Given the description of an element on the screen output the (x, y) to click on. 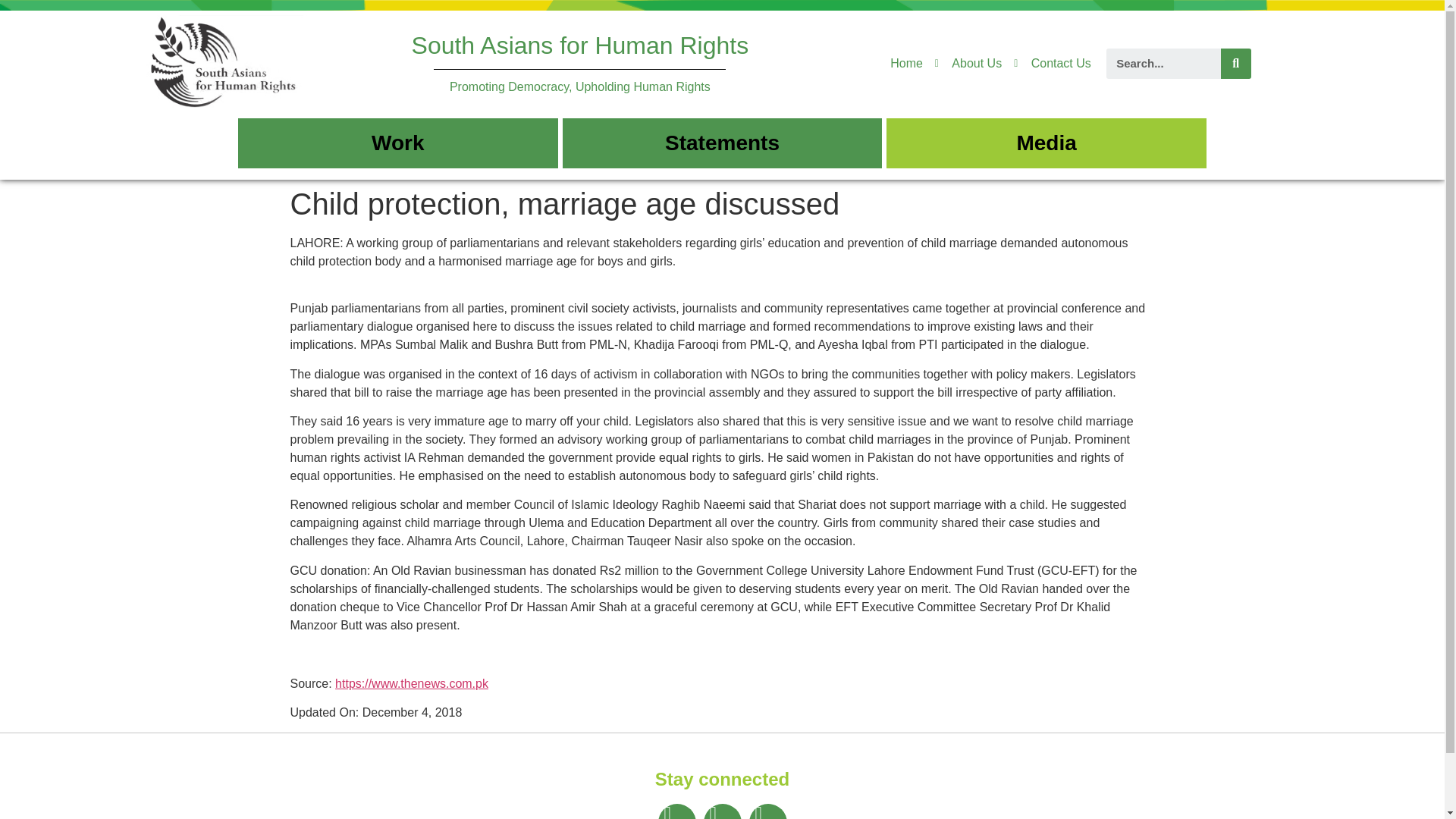
Search (1163, 63)
Statements (722, 143)
Home (906, 63)
Search (1235, 63)
Contact Us (1051, 63)
Work (398, 143)
About Us (967, 63)
